Given the description of an element on the screen output the (x, y) to click on. 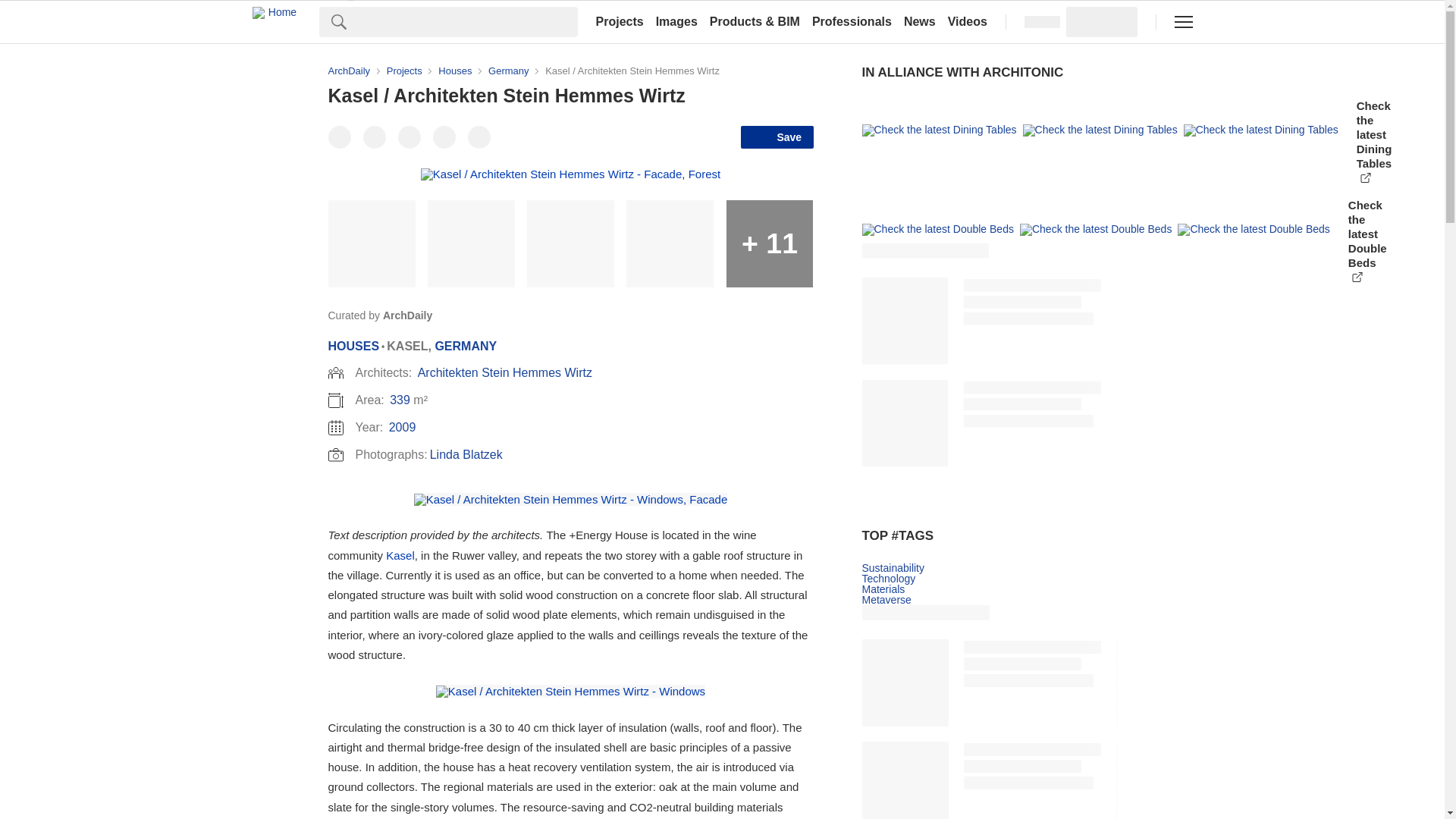
Videos (967, 21)
Professionals (852, 21)
Images (676, 21)
News (920, 21)
Projects (619, 21)
